Given the description of an element on the screen output the (x, y) to click on. 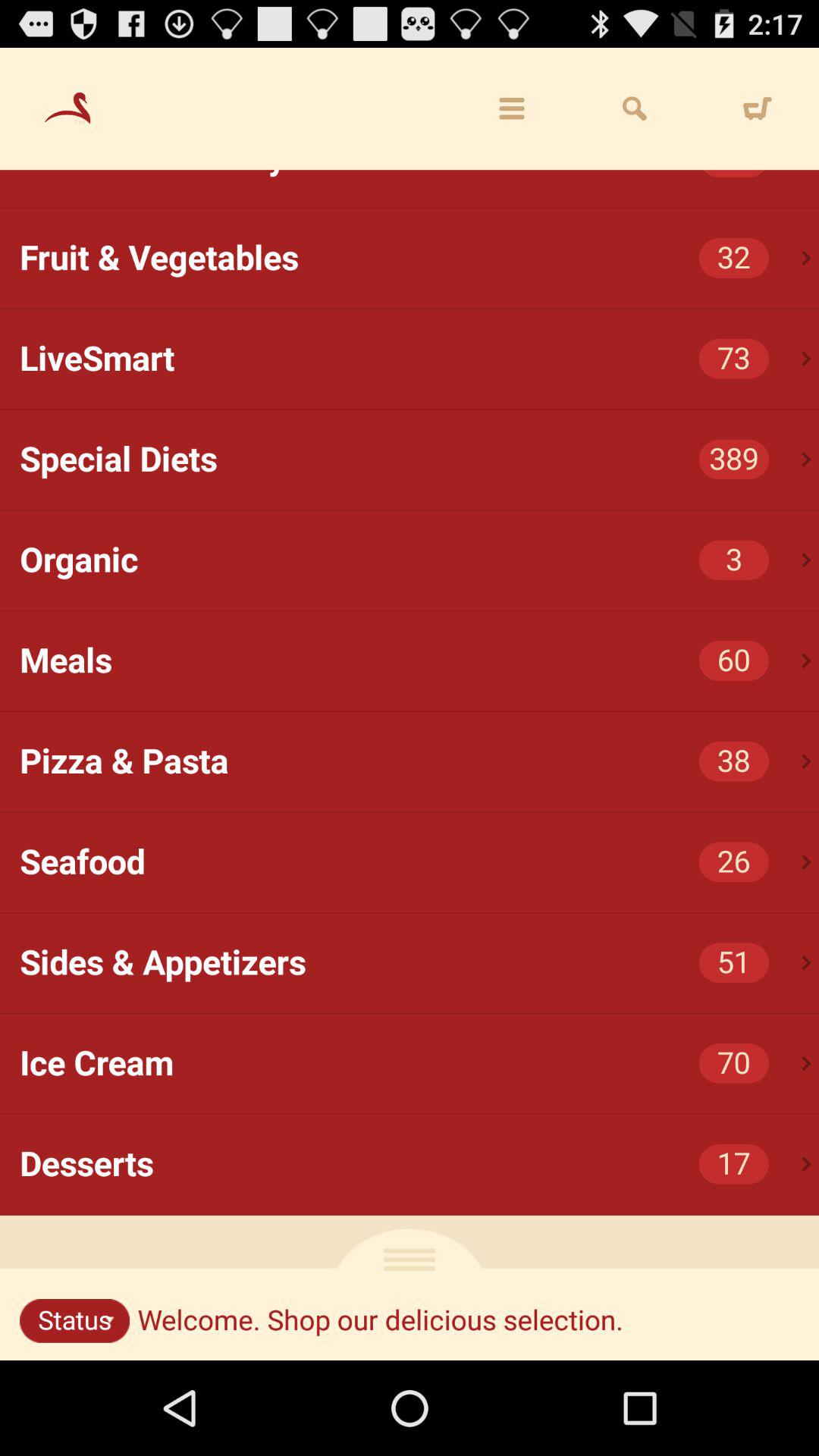
press the desserts item (419, 1164)
